Given the description of an element on the screen output the (x, y) to click on. 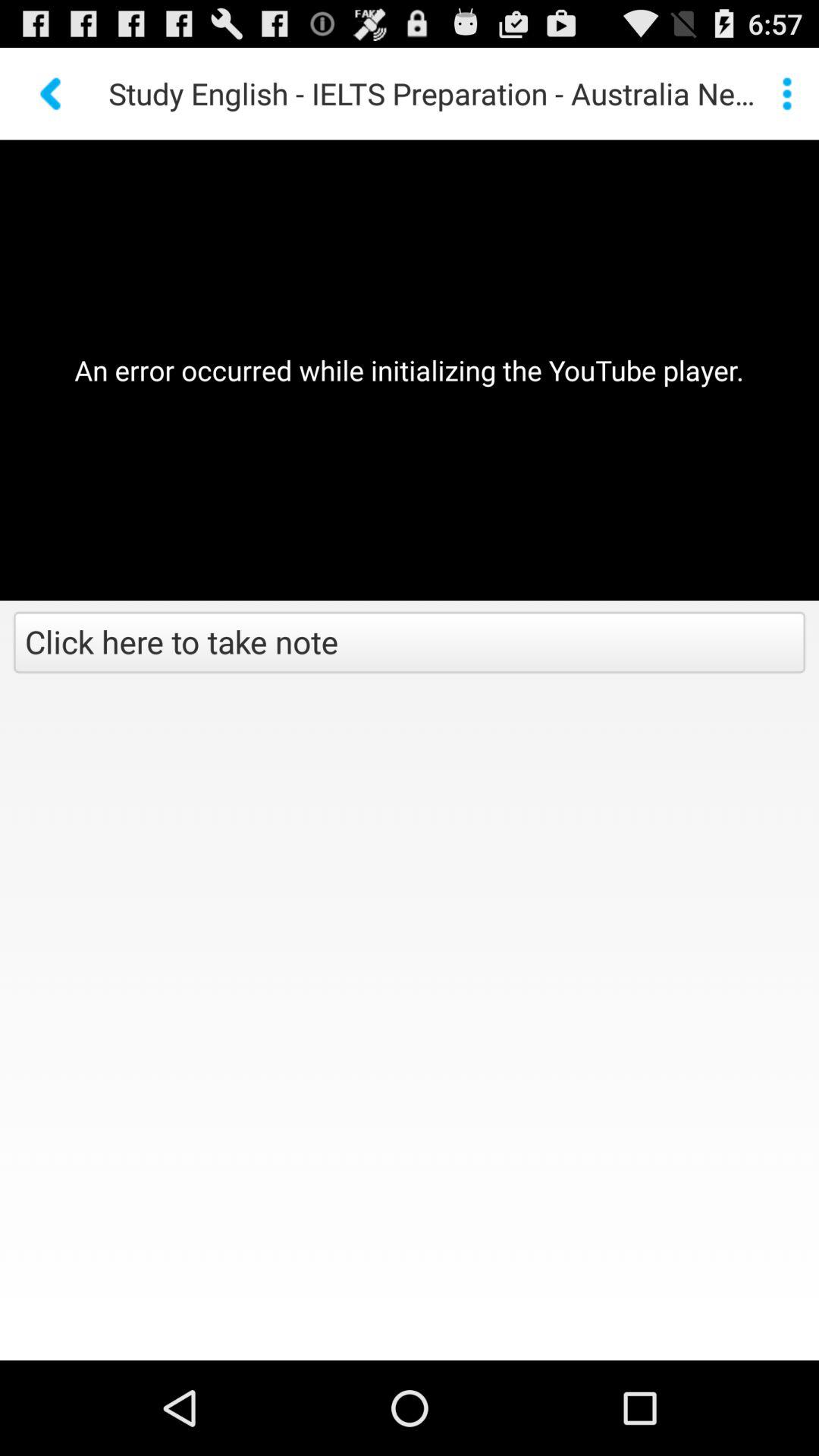
back button (52, 93)
